Given the description of an element on the screen output the (x, y) to click on. 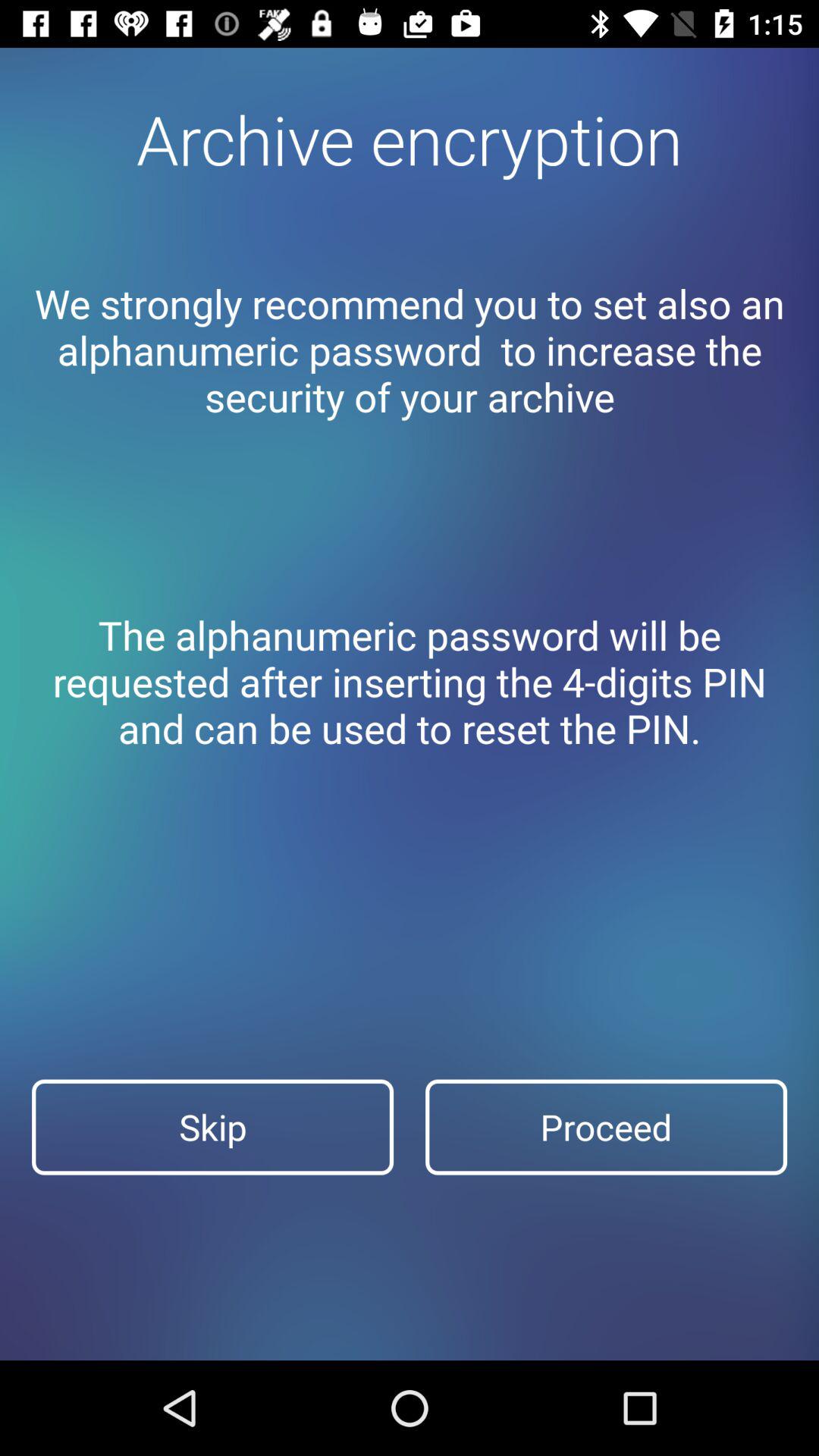
launch the icon below the alphanumeric password item (212, 1127)
